Given the description of an element on the screen output the (x, y) to click on. 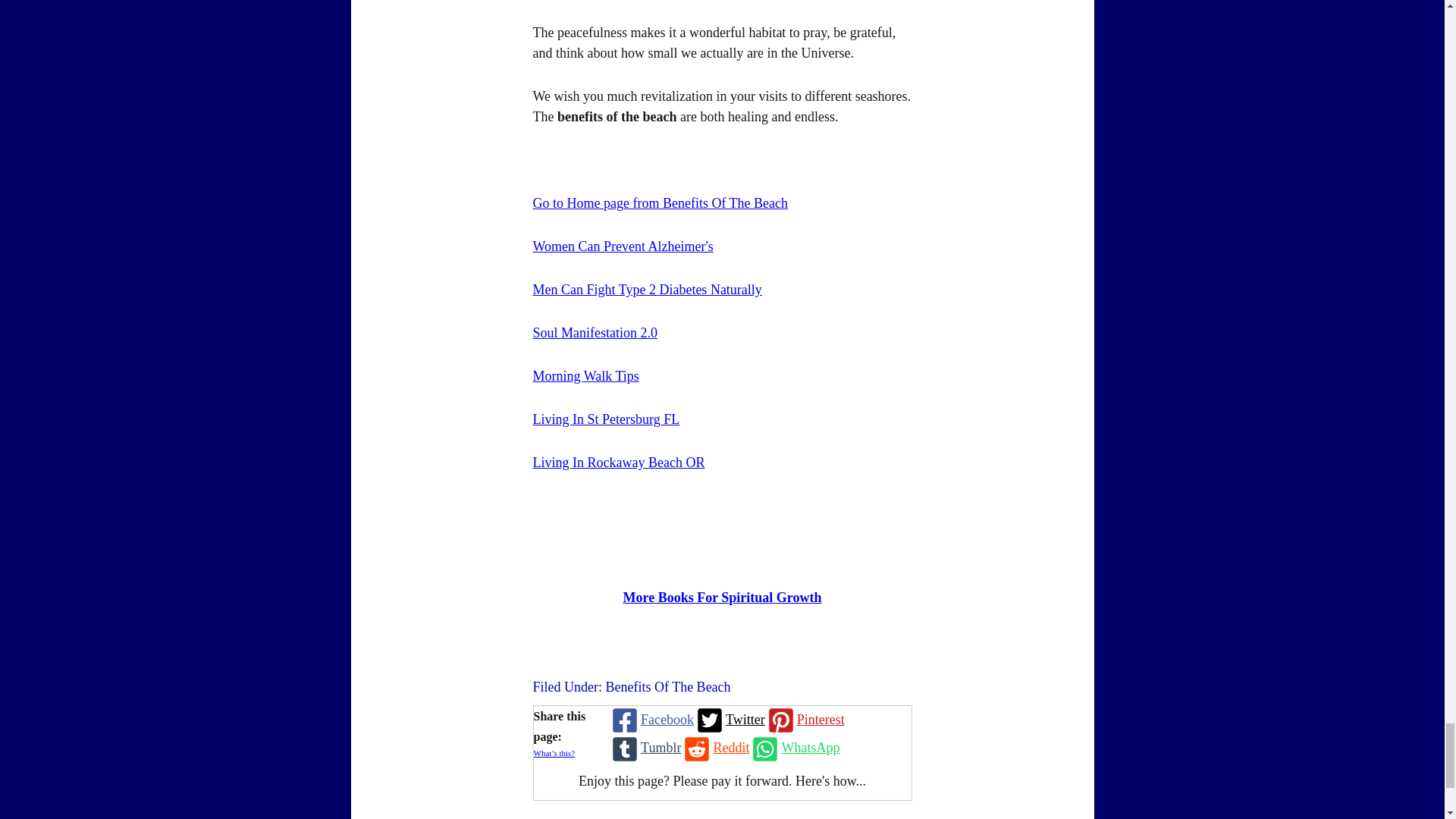
Pinterest (804, 719)
Go to Home page from Benefits Of The Beach (659, 202)
Tumblr (644, 747)
More Books For Spiritual Growth (722, 597)
Morning Walk Tips (585, 376)
Soul Manifestation 2.0 (595, 332)
Twitter (729, 719)
Living In St Petersburg FL (605, 418)
Reddit (715, 747)
WhatsApp (794, 747)
